Given the description of an element on the screen output the (x, y) to click on. 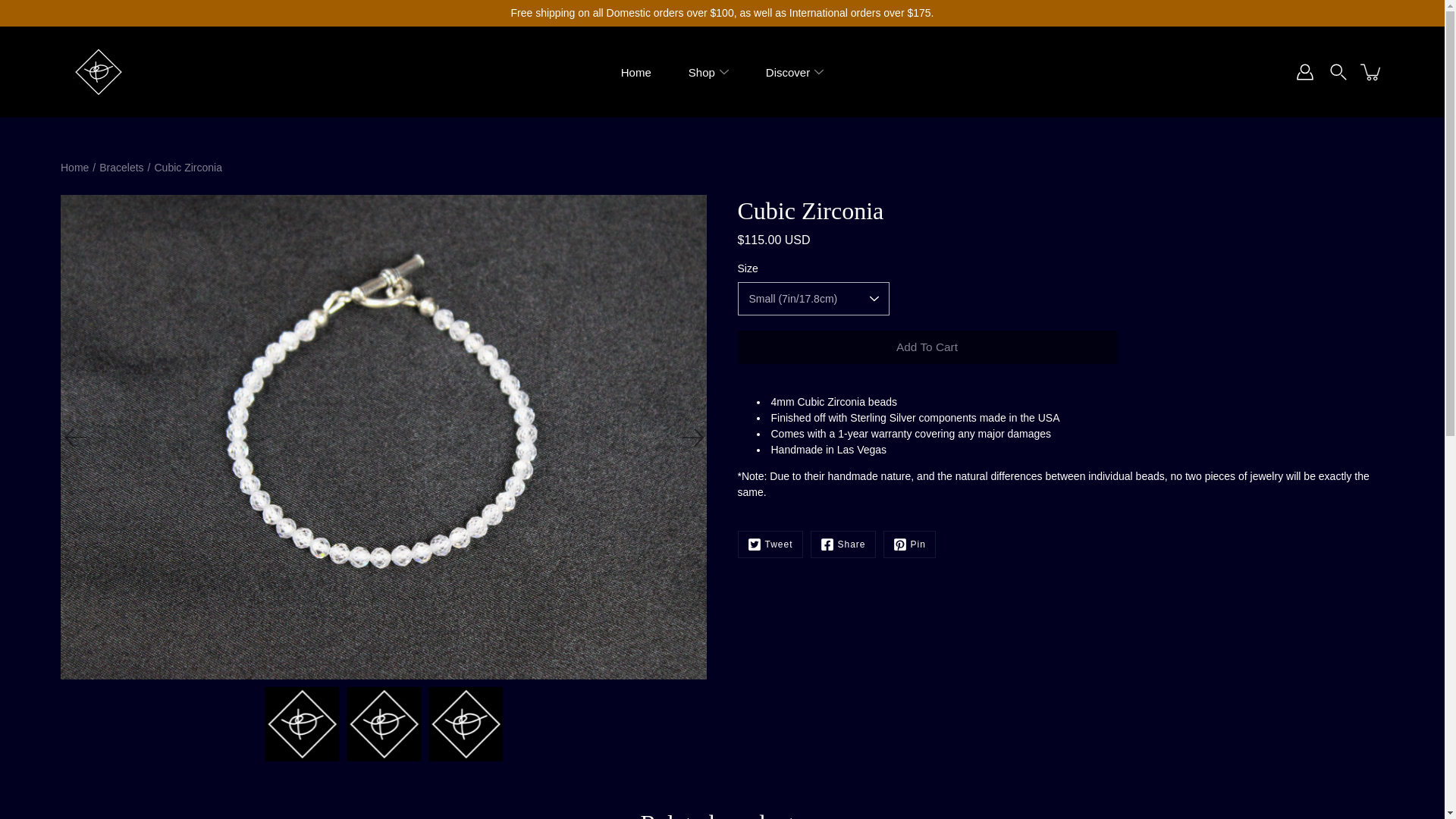
Back to the Homepage (74, 167)
Twitter (769, 543)
Home (635, 71)
Pinterest (909, 543)
Shop (701, 71)
Discover (787, 71)
Facebook (843, 543)
